Given the description of an element on the screen output the (x, y) to click on. 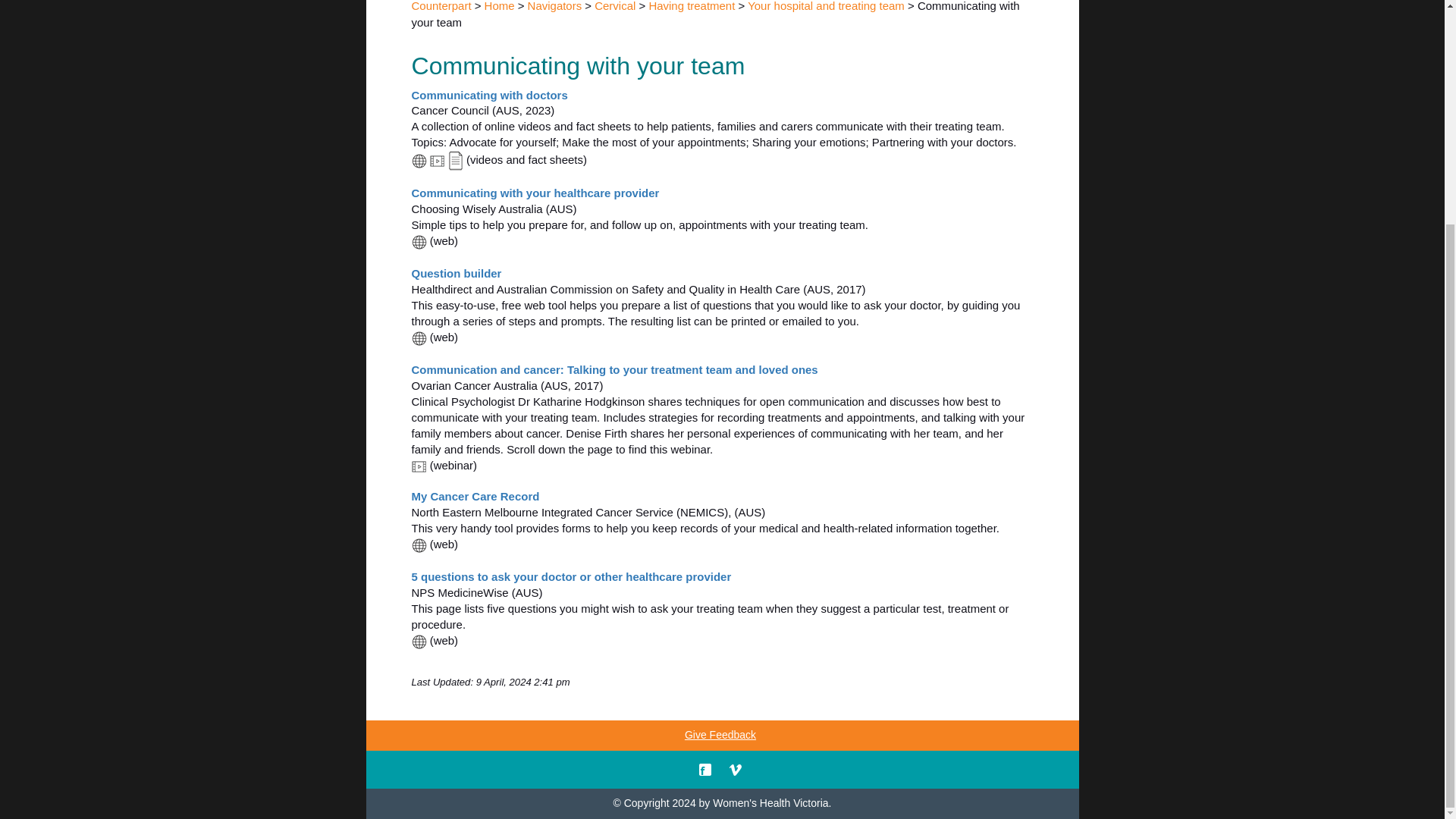
Your hospital and treating team (826, 6)
Go to Having treatment. (691, 6)
5 questions to ask your doctor or other healthcare provider (570, 576)
Home (499, 6)
Having treatment (691, 6)
Communicating with your healthcare provider (534, 192)
Go to Counterpart. (440, 6)
Go to Cervical. (614, 6)
Counterpart (440, 6)
Go to Your hospital and treating team. (826, 6)
Navigators (554, 6)
Facebook (704, 768)
Give Feedback (719, 735)
Go to Home. (499, 6)
